Given the description of an element on the screen output the (x, y) to click on. 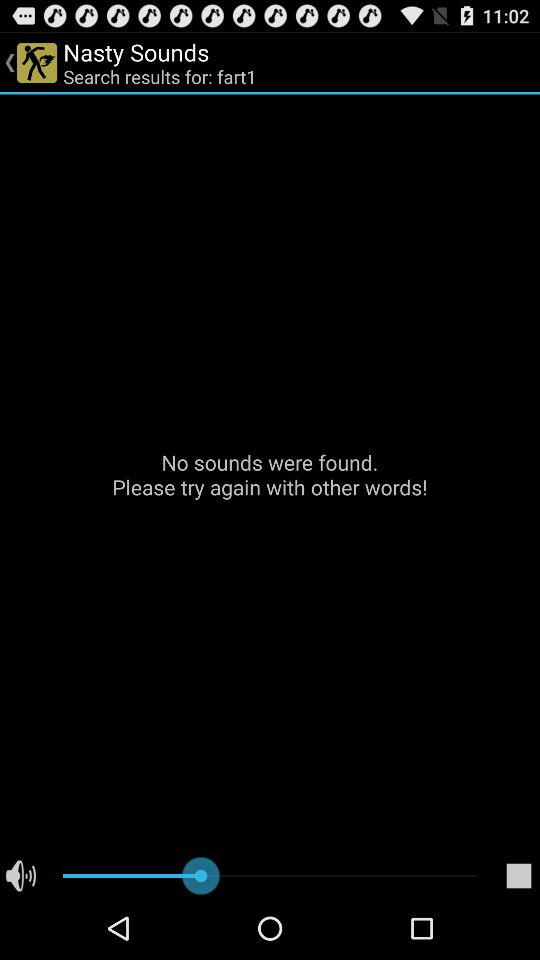
tap the icon at the bottom right corner (518, 875)
